Given the description of an element on the screen output the (x, y) to click on. 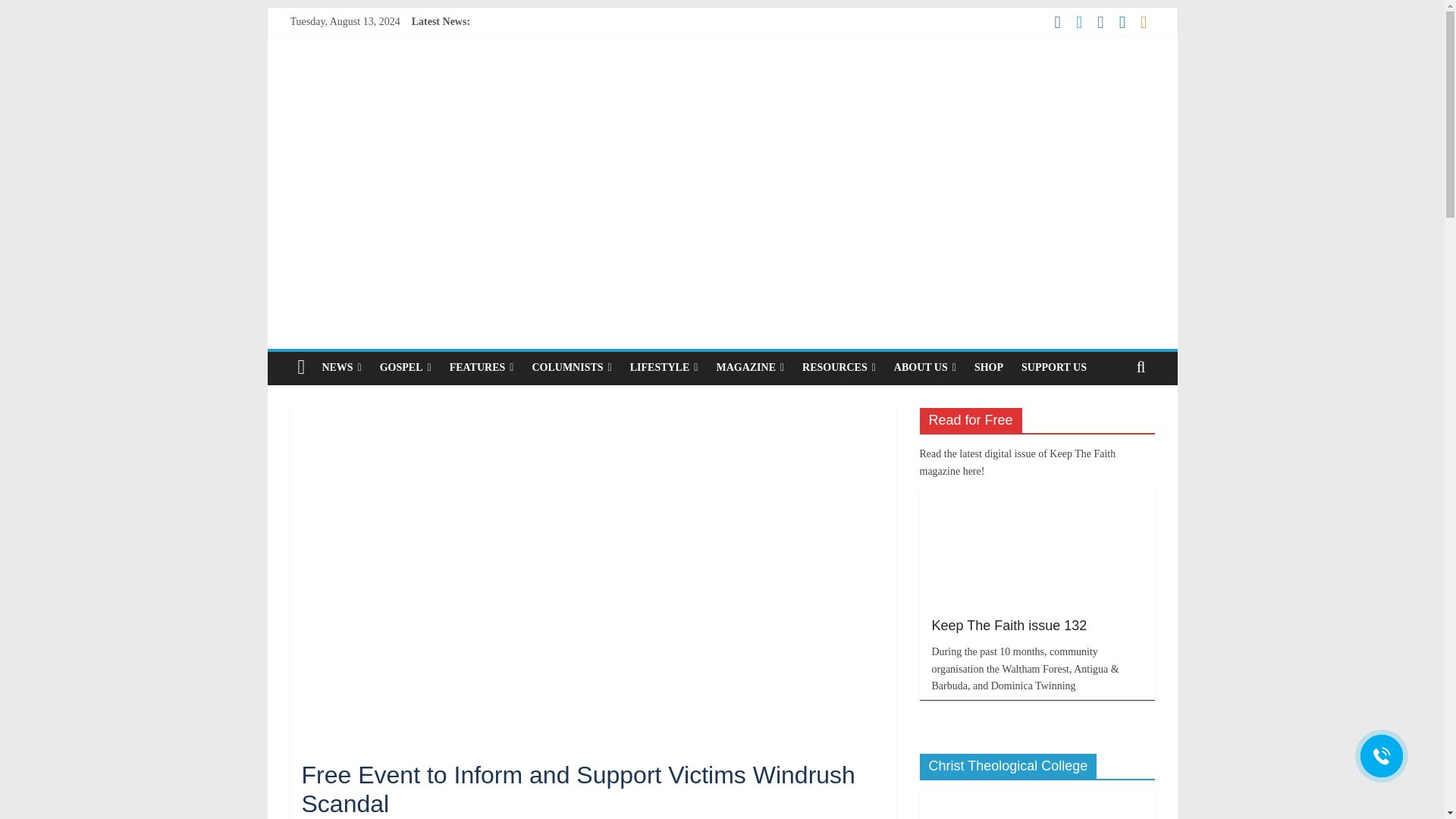
NEWS (341, 368)
FEATURES (481, 368)
COLUMNISTS (571, 368)
GOSPEL (406, 368)
